Given the description of an element on the screen output the (x, y) to click on. 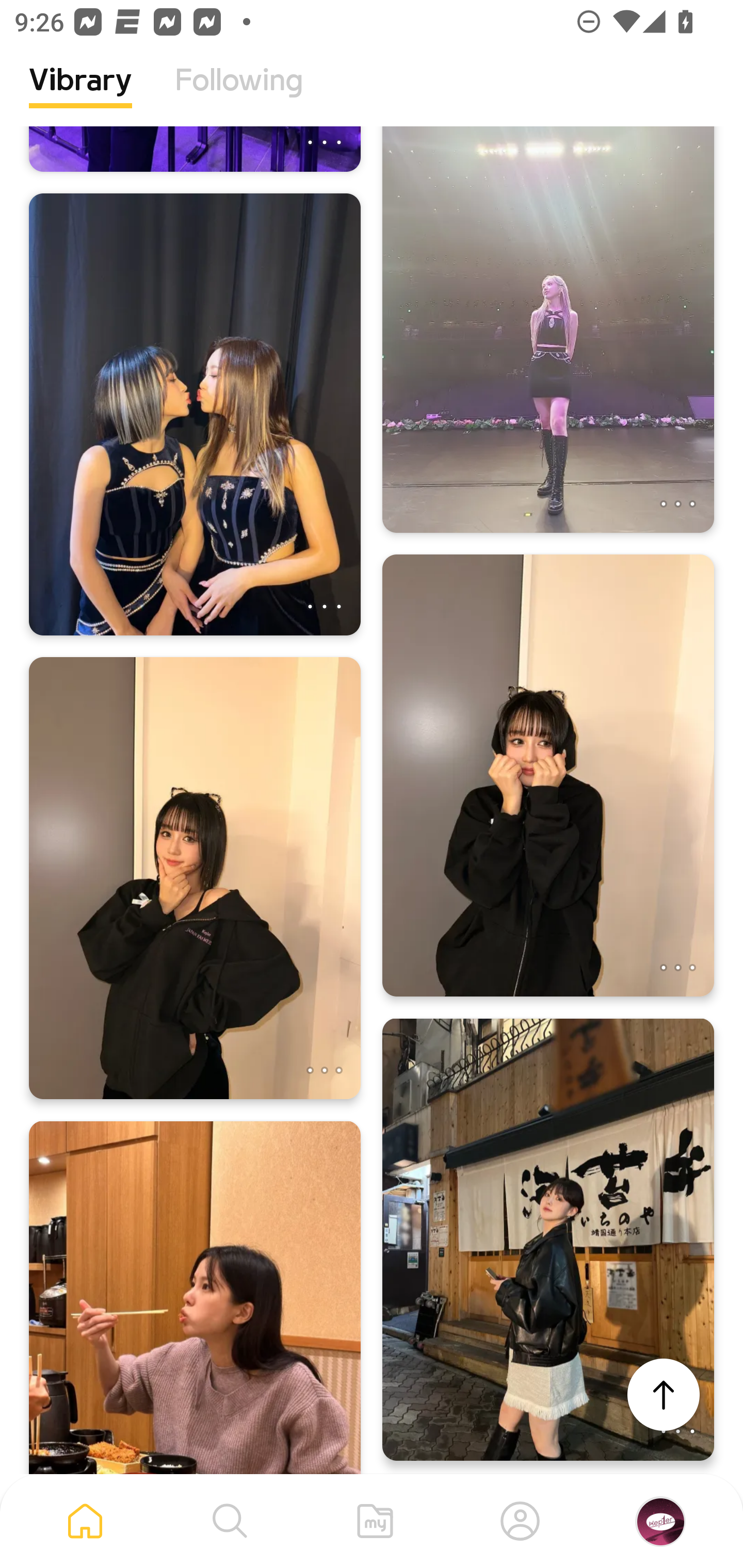
Vibrary (80, 95)
Following (239, 95)
